Given the description of an element on the screen output the (x, y) to click on. 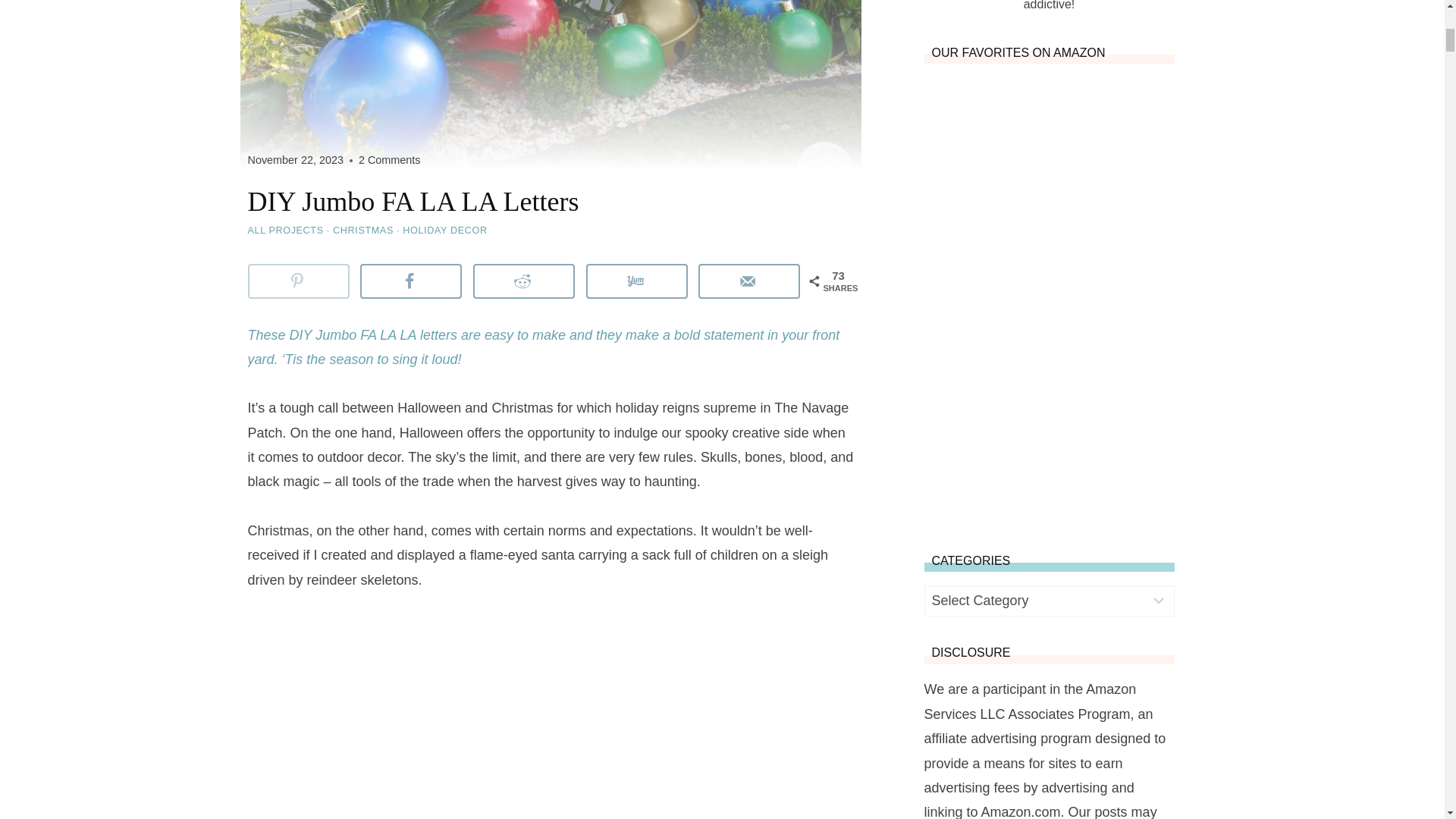
ALL PROJECTS (285, 230)
Save to Pinterest (298, 280)
Share on Facebook (410, 280)
Send over email (748, 280)
CHRISTMAS (363, 230)
HOLIDAY DECOR (444, 230)
Share on Yummly (636, 280)
2 Comments (389, 160)
2 Comments (389, 160)
Share on Reddit (524, 280)
